Given the description of an element on the screen output the (x, y) to click on. 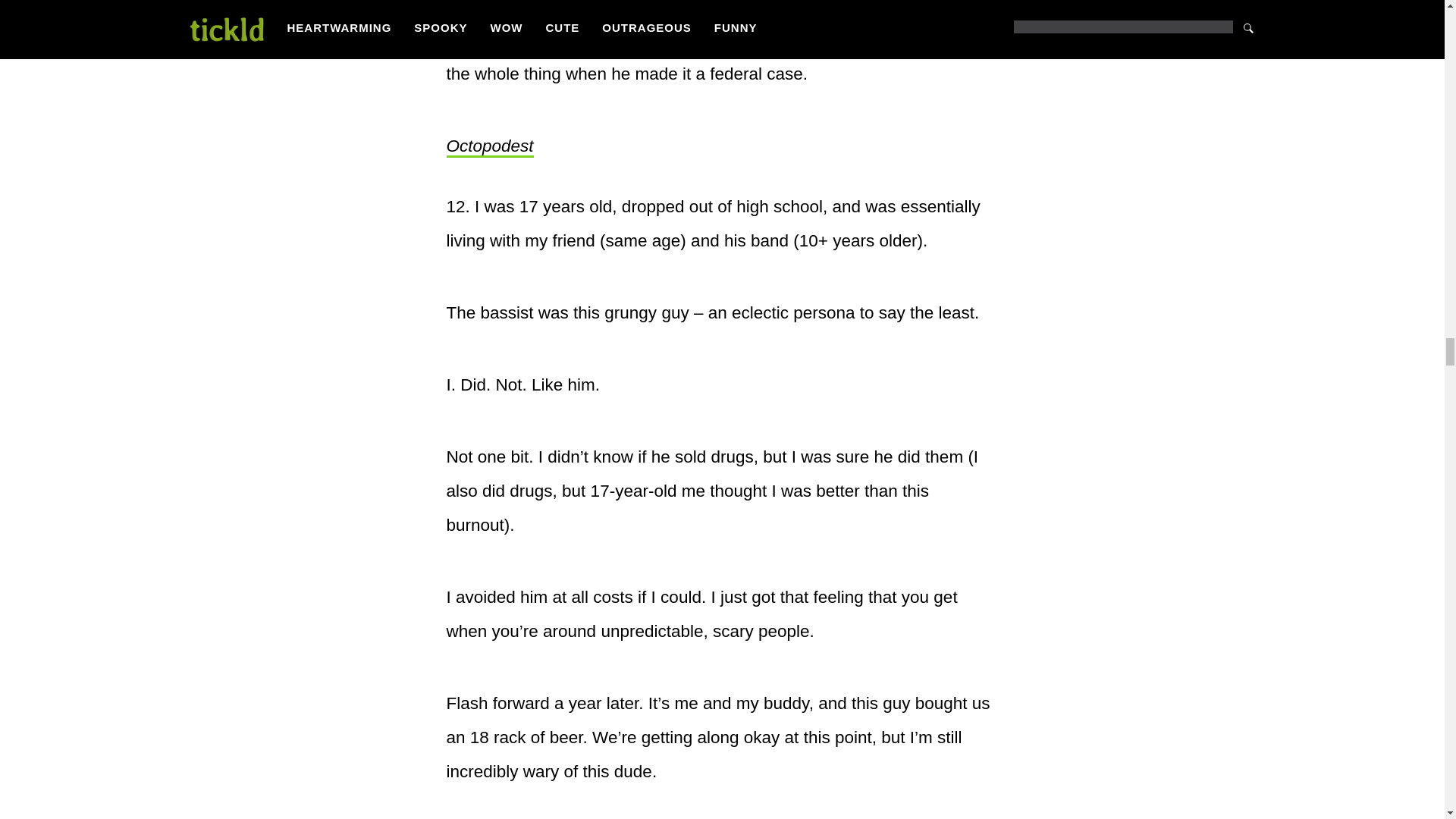
Octopodest (488, 147)
